Given the description of an element on the screen output the (x, y) to click on. 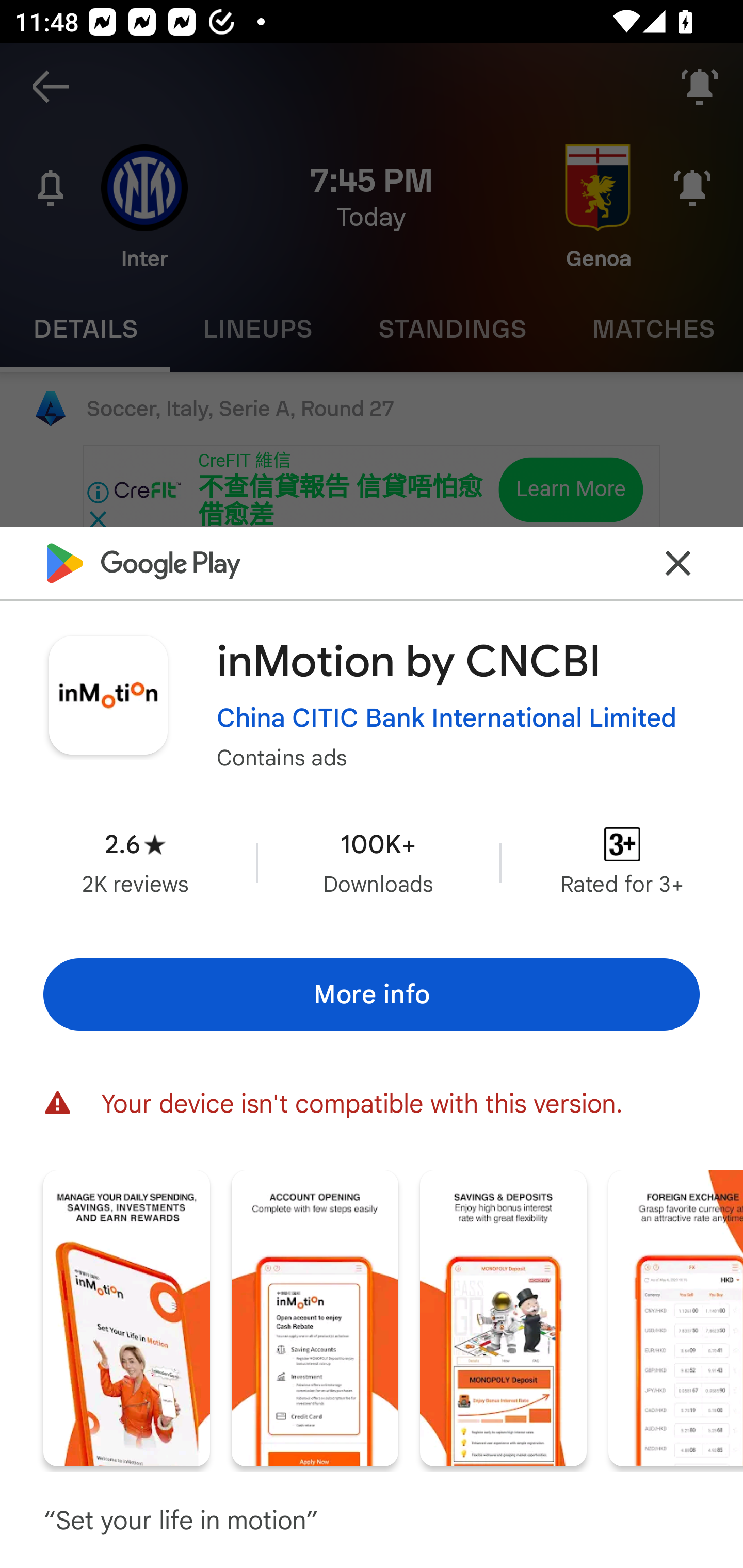
Close (677, 562)
Image of app or game icon for inMotion by CNCBI (108, 695)
China CITIC Bank International Limited (446, 716)
More info (371, 994)
Screenshot "1" of "7" (126, 1317)
Screenshot "2" of "7" (314, 1317)
Screenshot "3" of "7" (502, 1317)
Screenshot "4" of "7" (675, 1317)
